Given the description of an element on the screen output the (x, y) to click on. 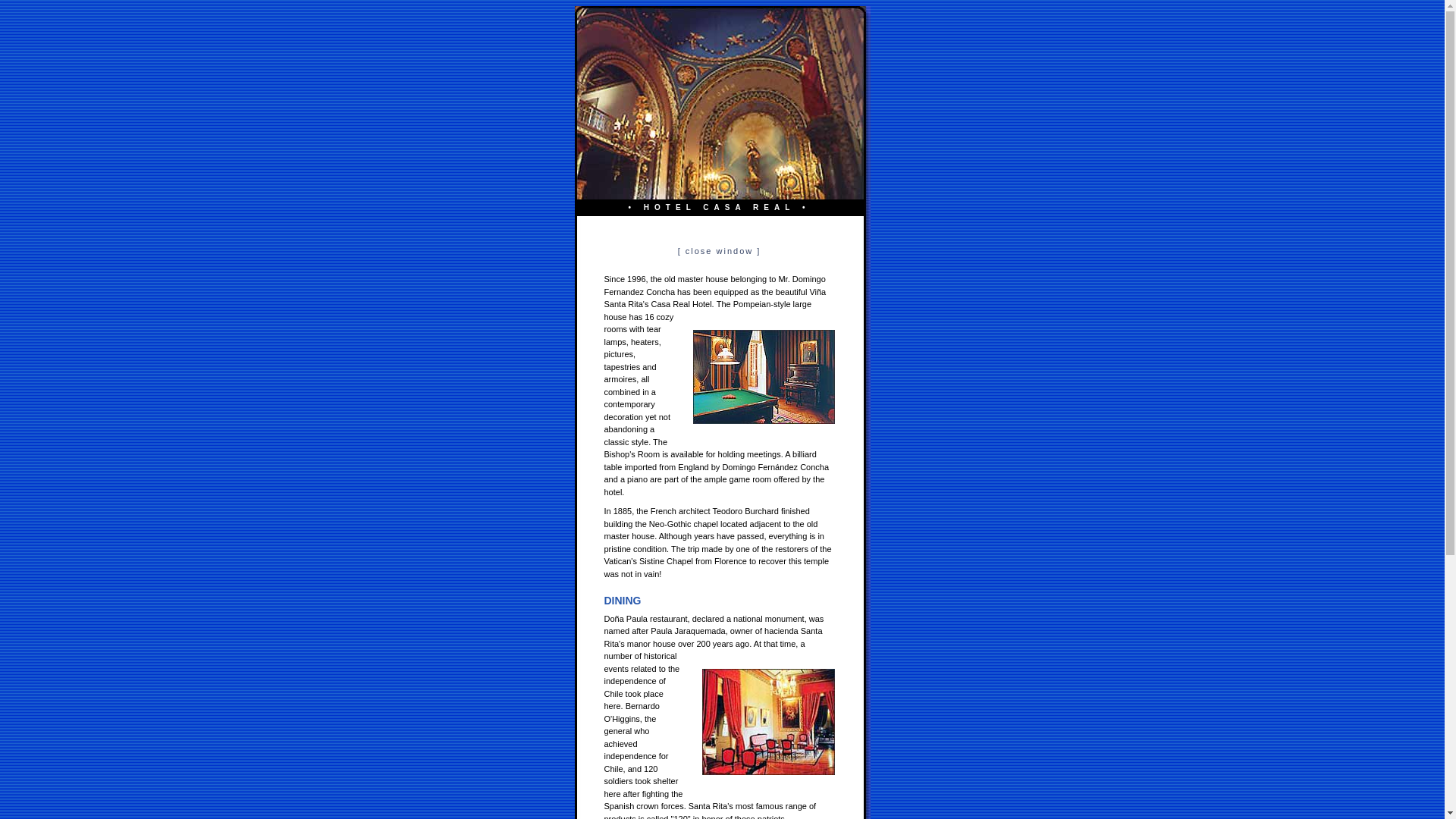
[ close window ] Element type: text (719, 250)
